Given the description of an element on the screen output the (x, y) to click on. 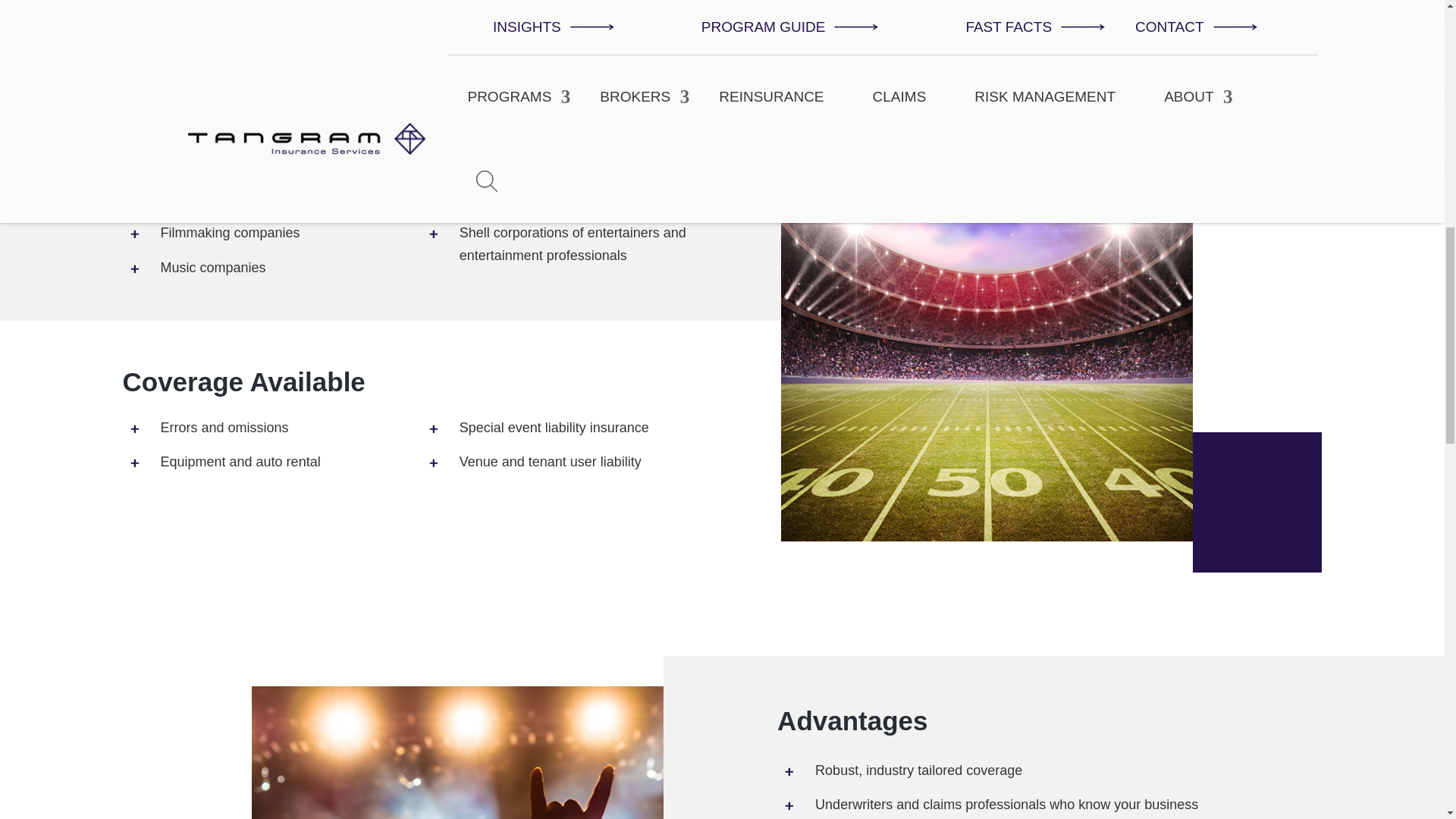
enter3 (457, 752)
